Given the description of an element on the screen output the (x, y) to click on. 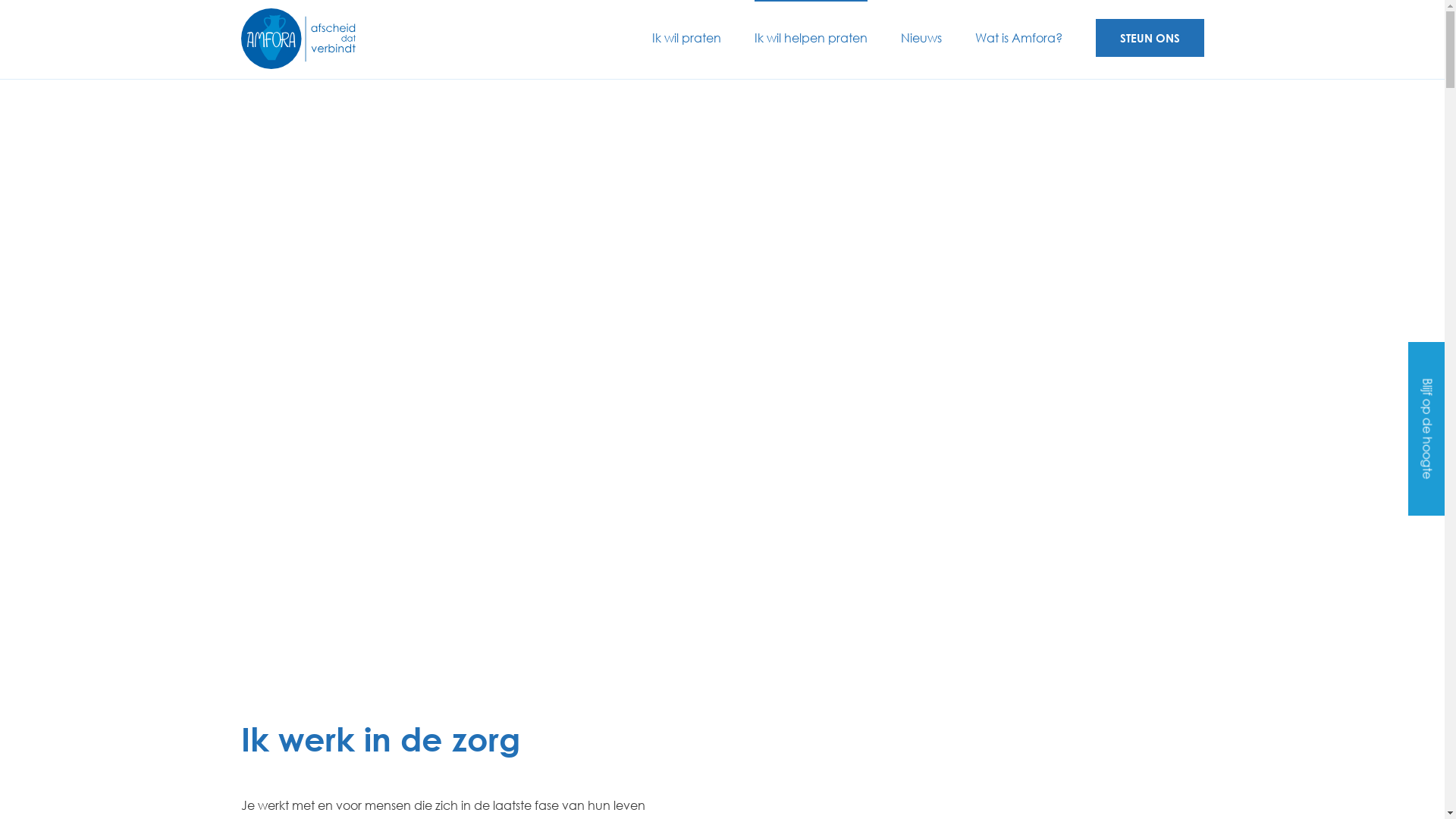
Ik wil praten Element type: text (686, 39)
STEUN ONS Element type: text (1149, 37)
Nieuws Element type: text (920, 39)
Wat is Amfora? Element type: text (1018, 39)
Aanmelden Element type: text (576, 658)
Ik wil helpen praten Element type: text (809, 39)
